Given the description of an element on the screen output the (x, y) to click on. 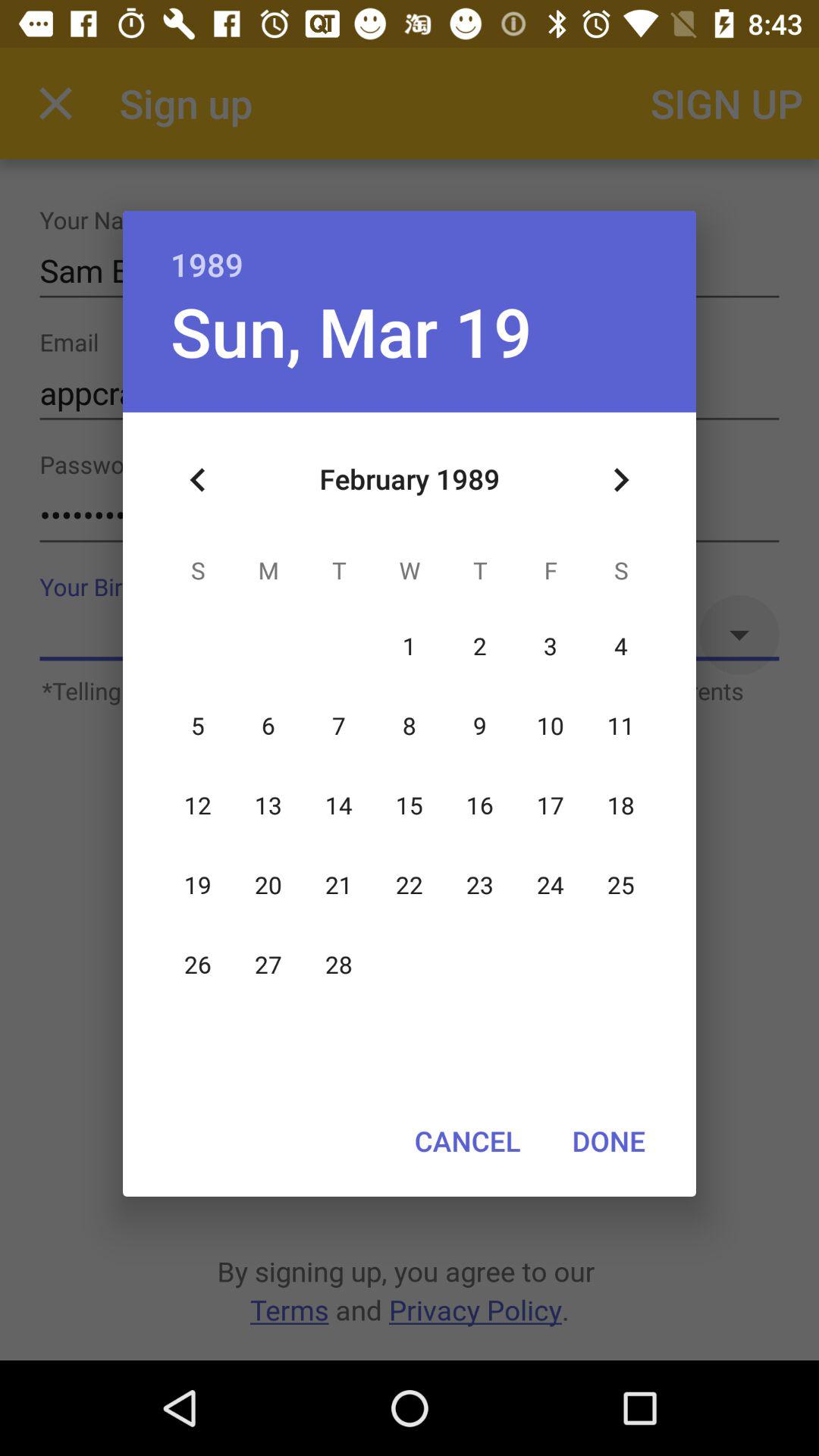
turn on icon at the top left corner (197, 479)
